Given the description of an element on the screen output the (x, y) to click on. 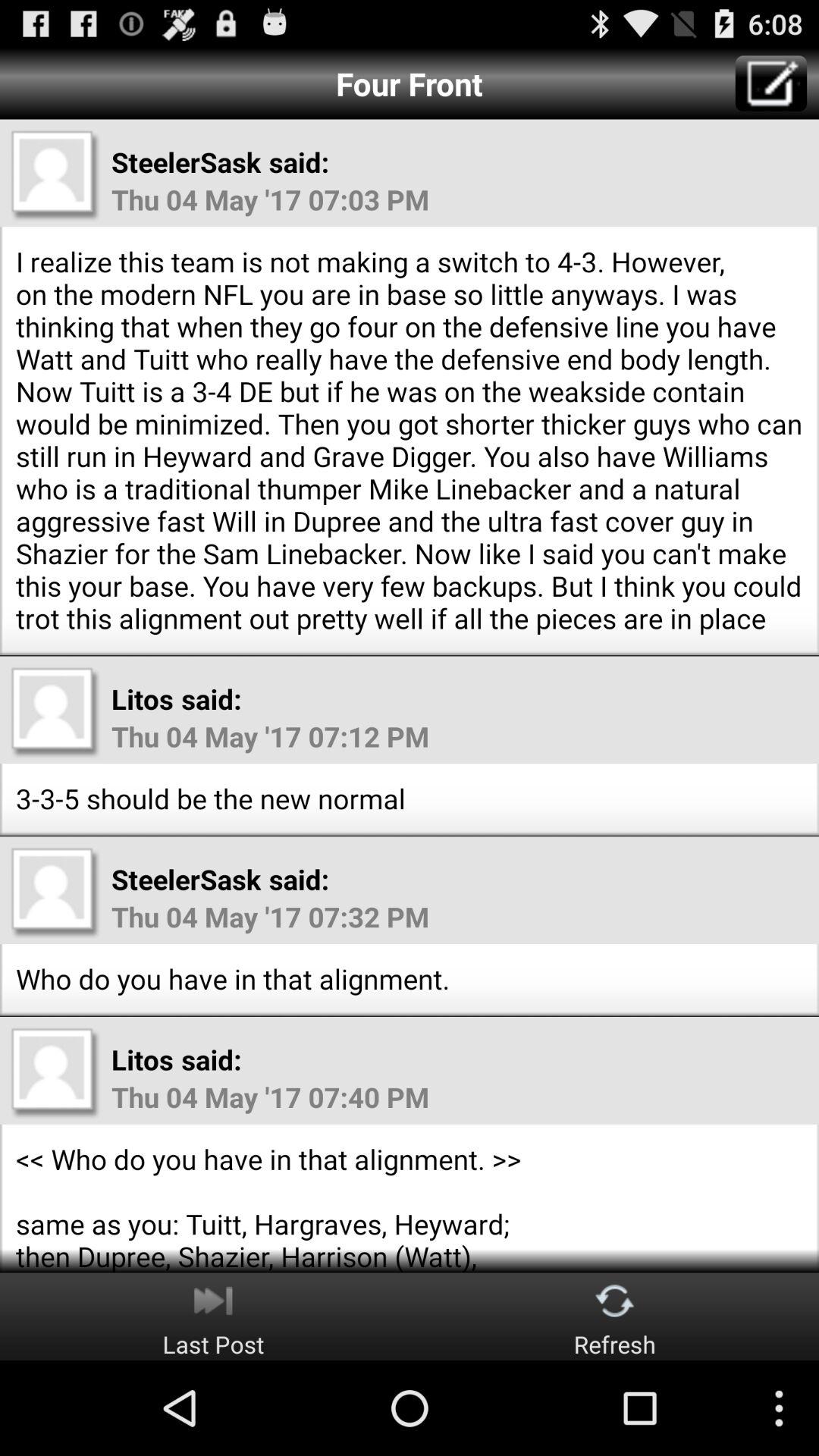
write message (771, 83)
